Given the description of an element on the screen output the (x, y) to click on. 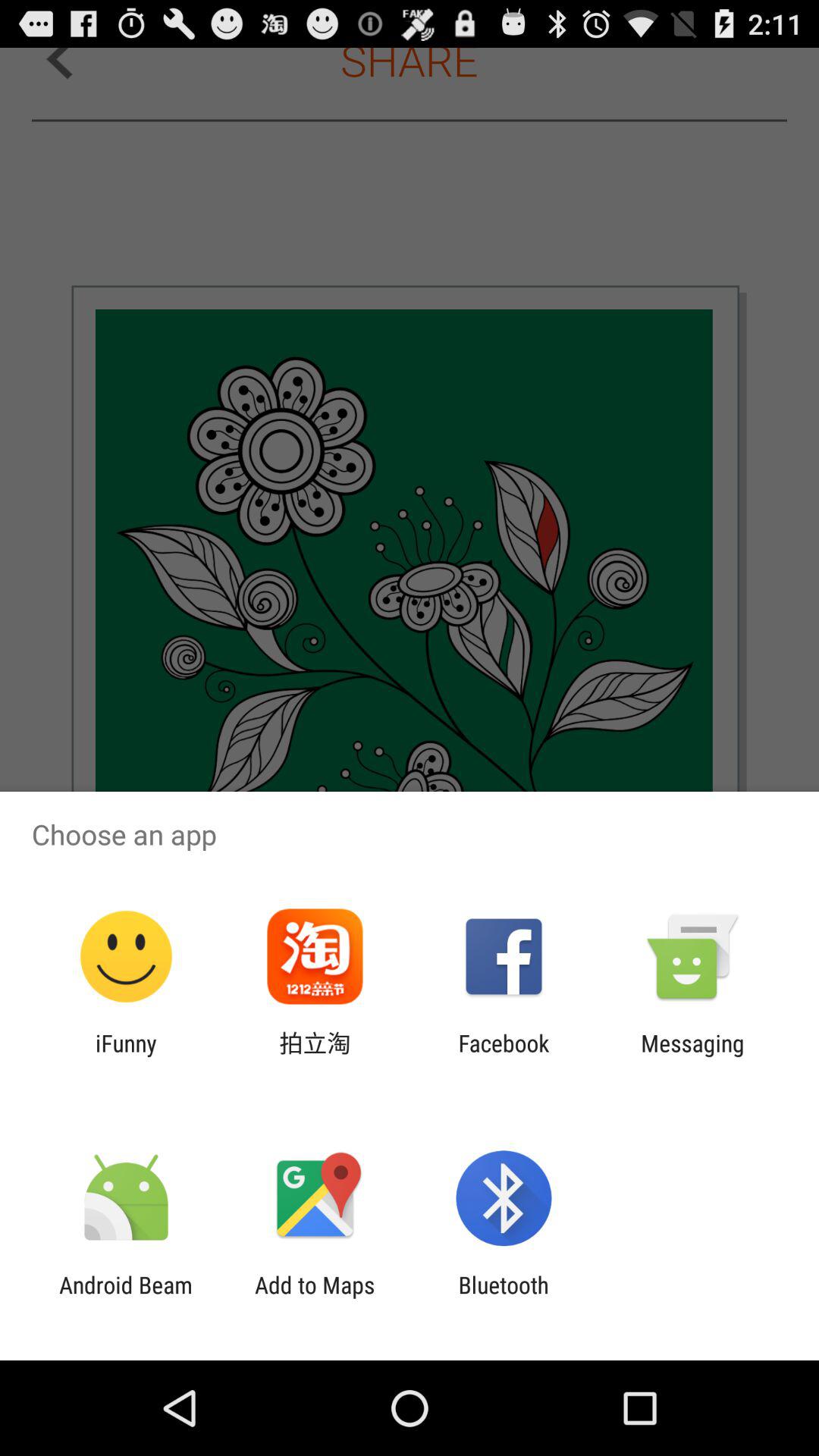
select item next to android beam (314, 1298)
